Given the description of an element on the screen output the (x, y) to click on. 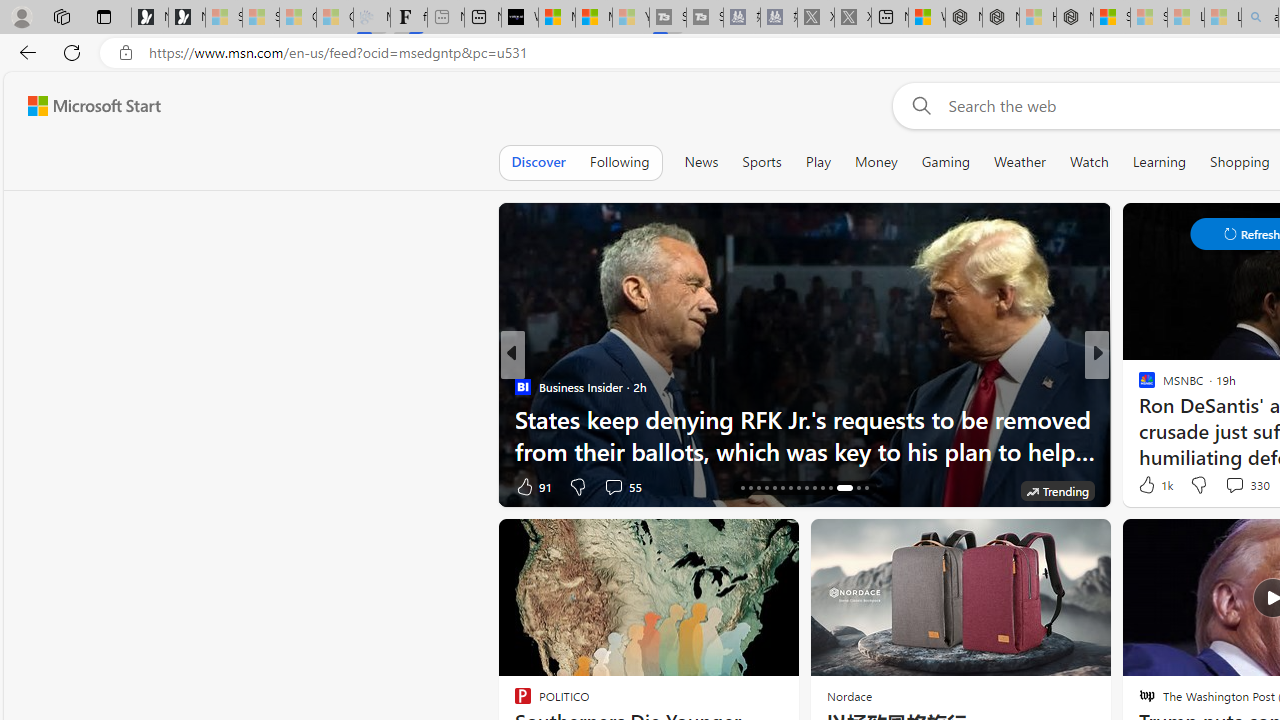
View comments 330 Comment (1234, 485)
Comments turned off for this story (1222, 485)
AutomationID: tab-24 (806, 487)
AutomationID: tab-17 (750, 487)
AutomationID: tab-18 (757, 487)
LGBTQ Nation (1138, 386)
View comments 96 Comment (1244, 486)
AutomationID: tab-25 (814, 487)
AutomationID: tab-27 (829, 487)
View comments 6 Comment (11, 485)
